Given the description of an element on the screen output the (x, y) to click on. 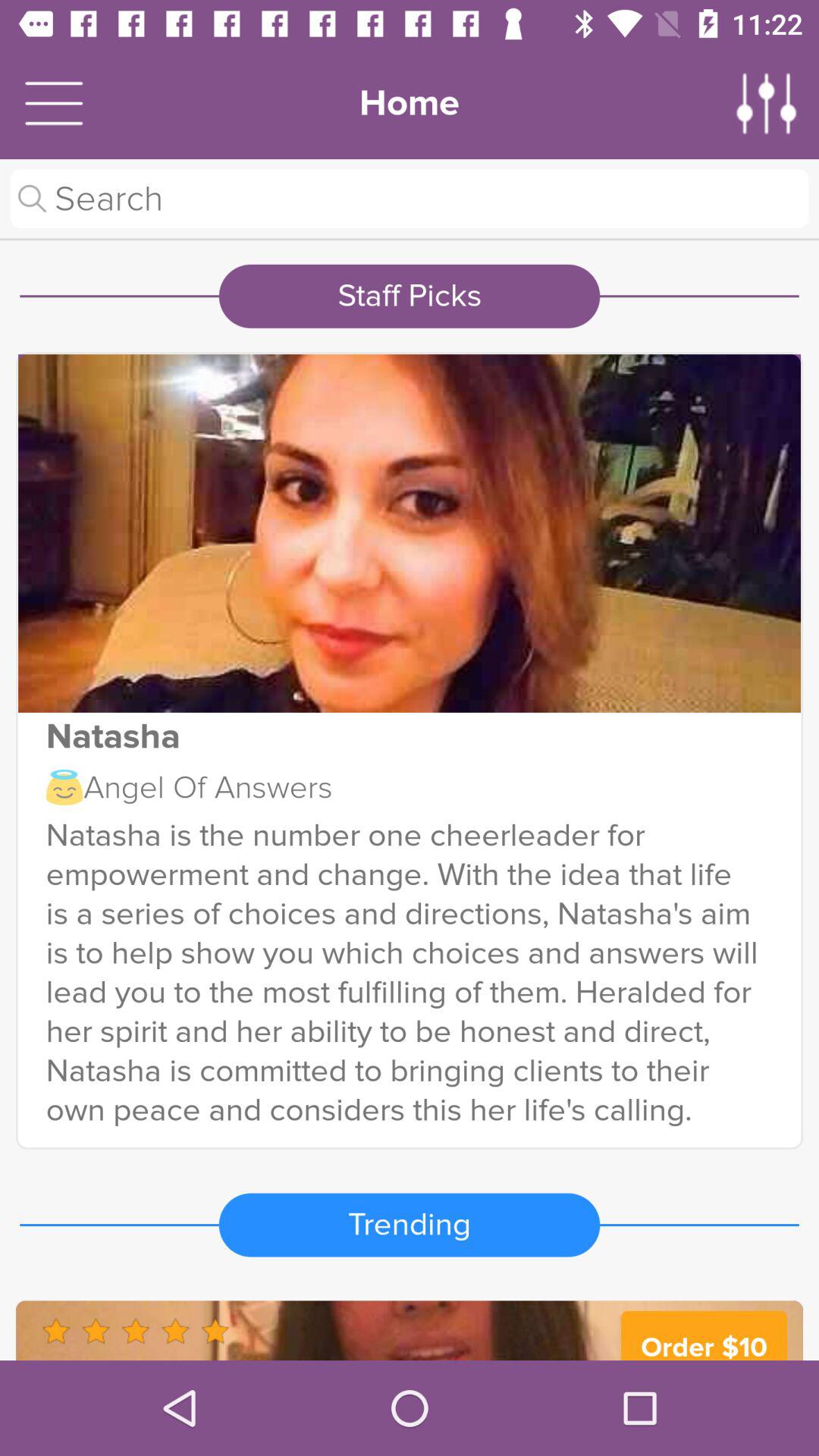
search website (409, 198)
